Given the description of an element on the screen output the (x, y) to click on. 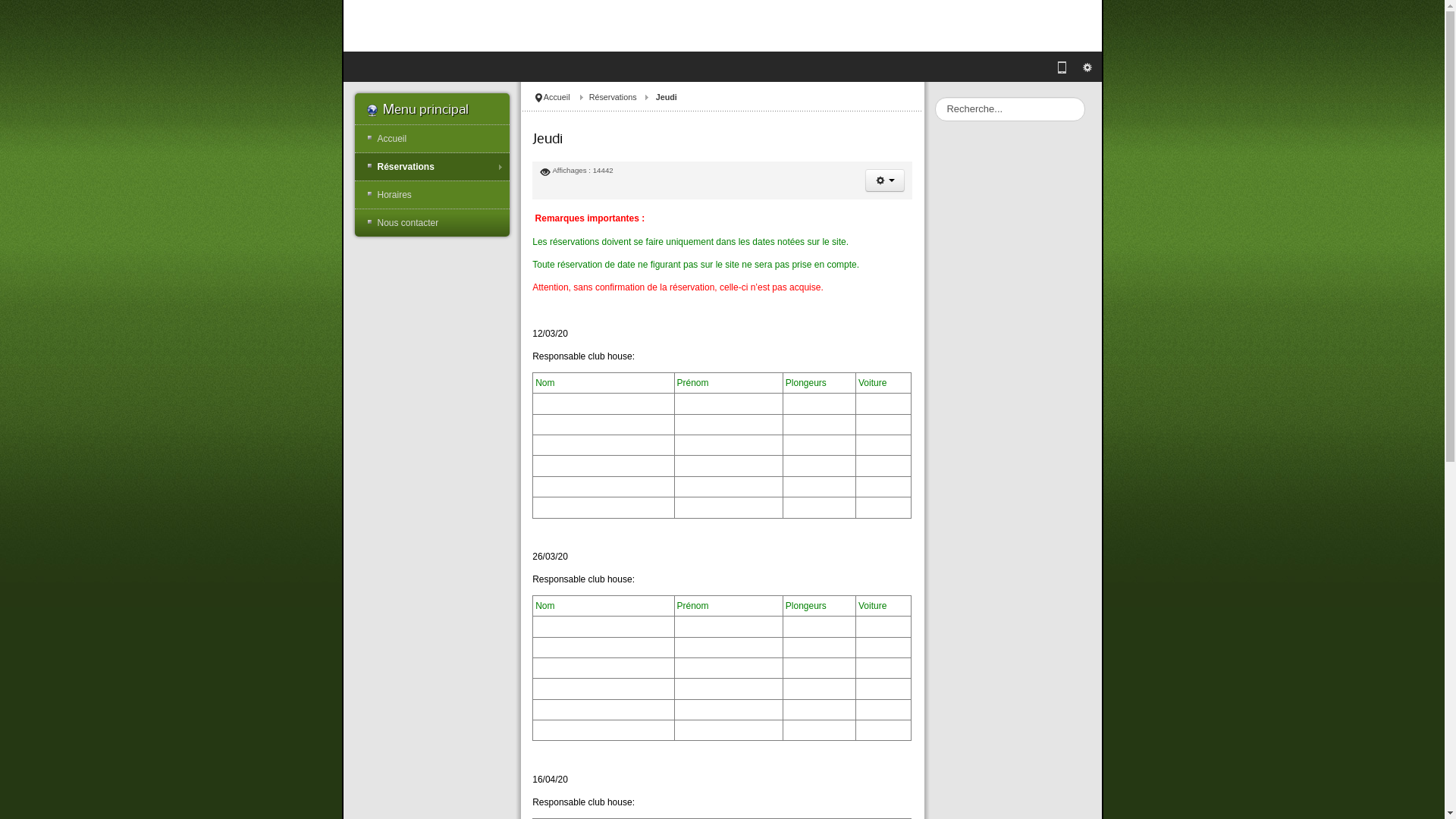
Accueil Element type: text (431, 138)
Accueil Element type: text (566, 96)
Horaires Element type: text (431, 194)
Nous contacter Element type: text (431, 222)
